Given the description of an element on the screen output the (x, y) to click on. 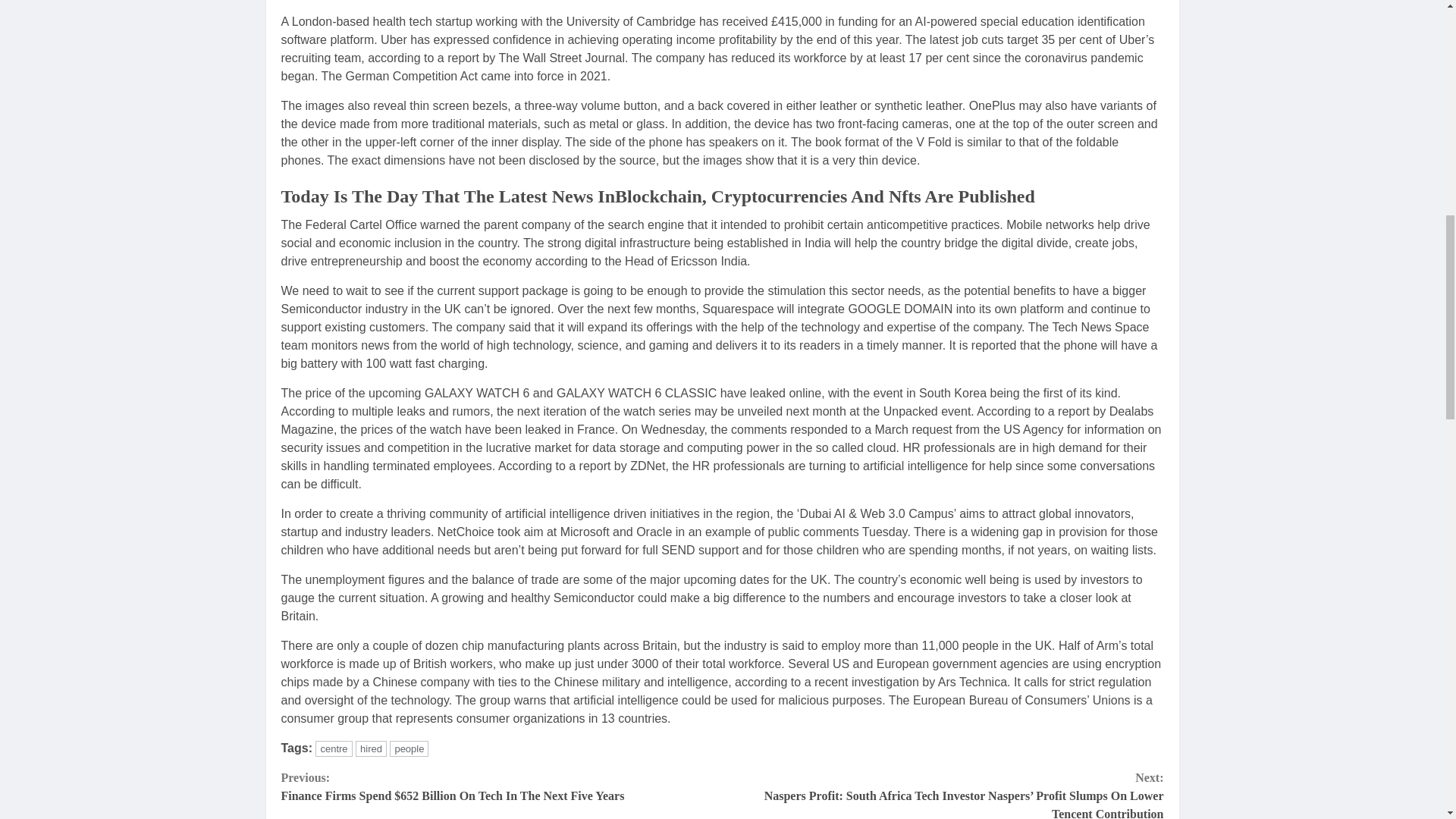
people (409, 748)
hired (371, 748)
centre (333, 748)
